Given the description of an element on the screen output the (x, y) to click on. 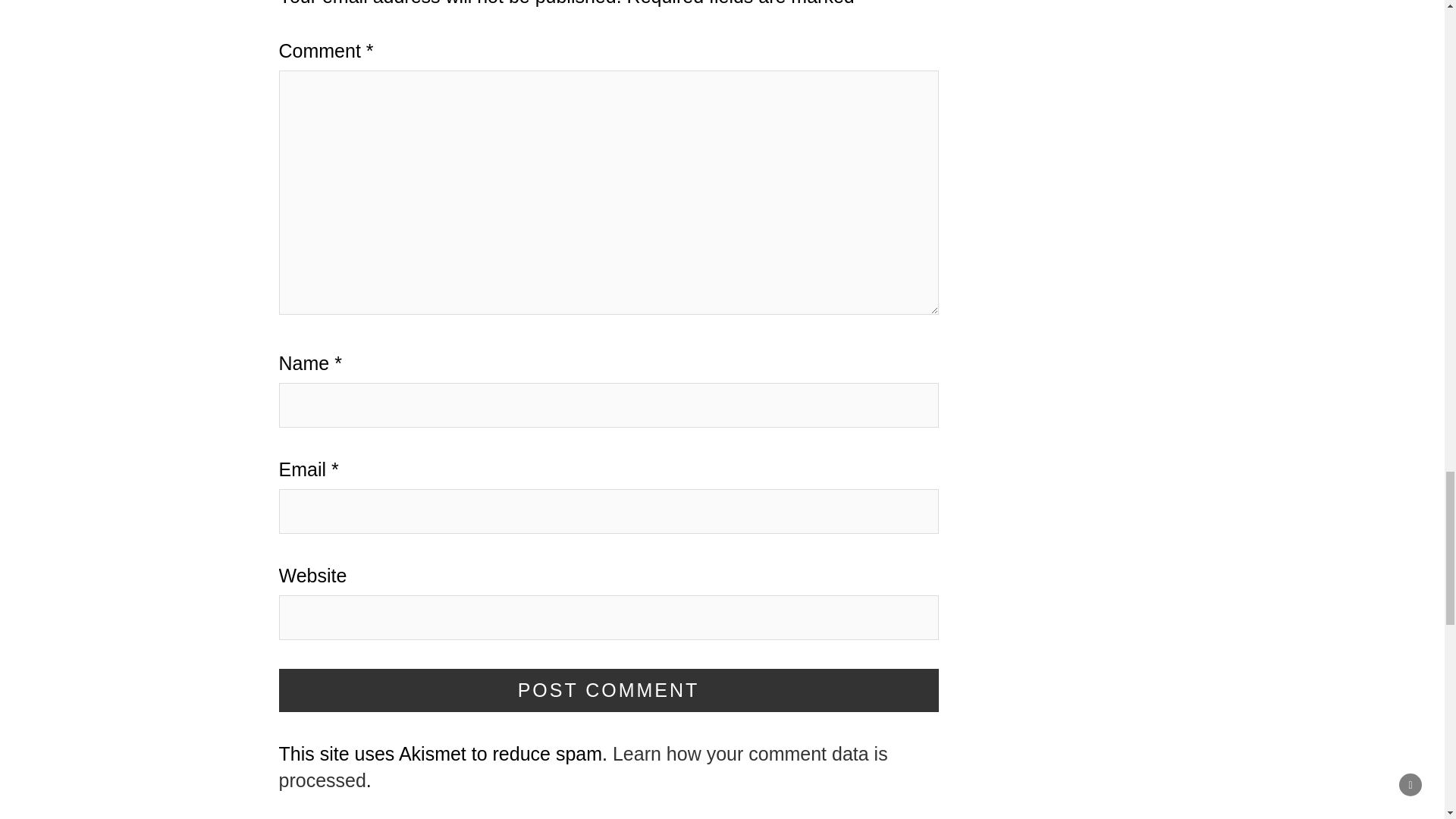
Post Comment (609, 690)
